Given the description of an element on the screen output the (x, y) to click on. 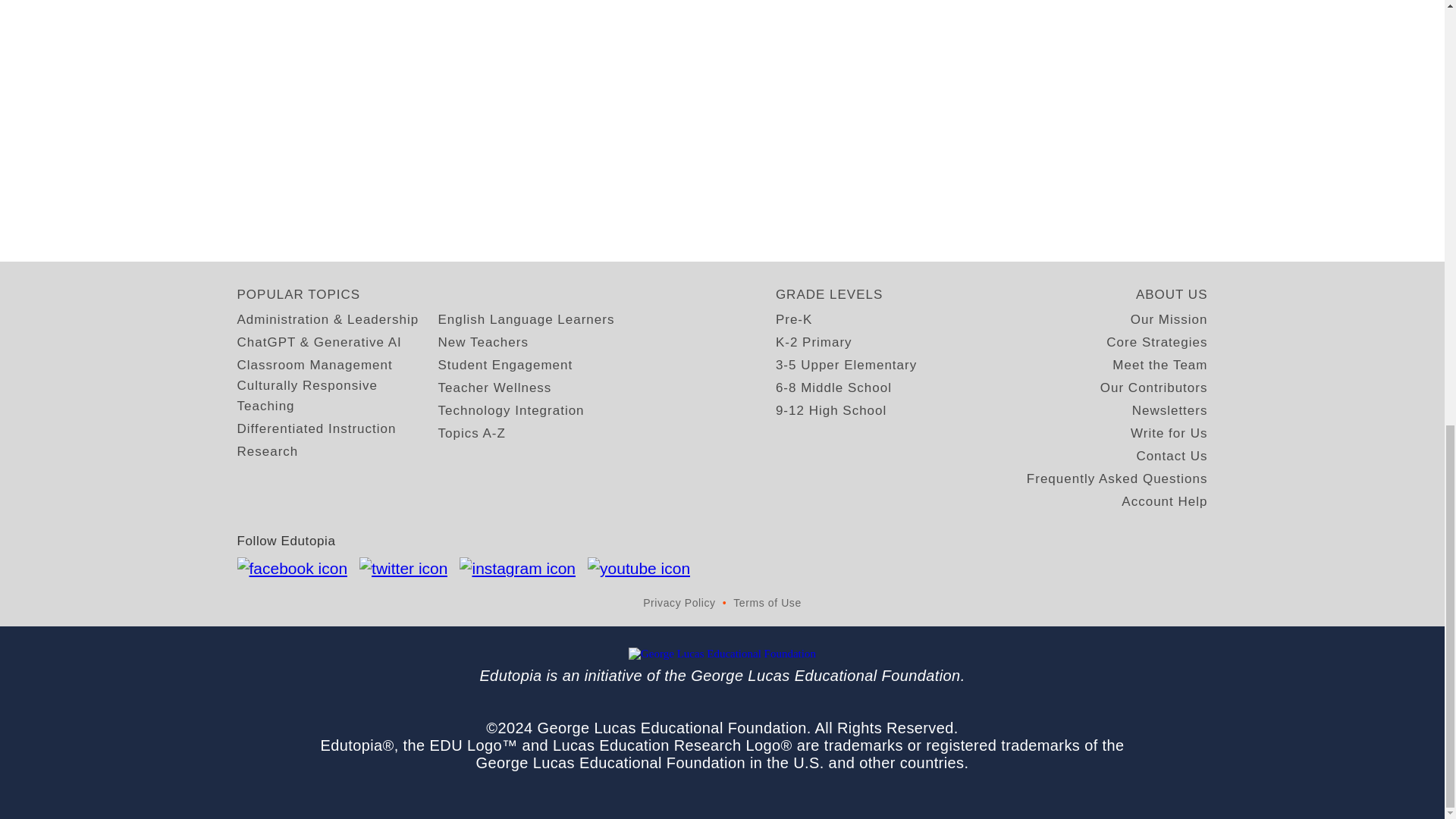
Research (266, 451)
Meet the Team (1159, 364)
Student Engagement (505, 364)
Classroom Management (313, 364)
Teacher Wellness (494, 387)
Pre-K (794, 319)
Culturally Responsive Teaching (336, 395)
Core Strategies (1156, 342)
Our Mission (1169, 319)
Technology Integration (511, 410)
